Given the description of an element on the screen output the (x, y) to click on. 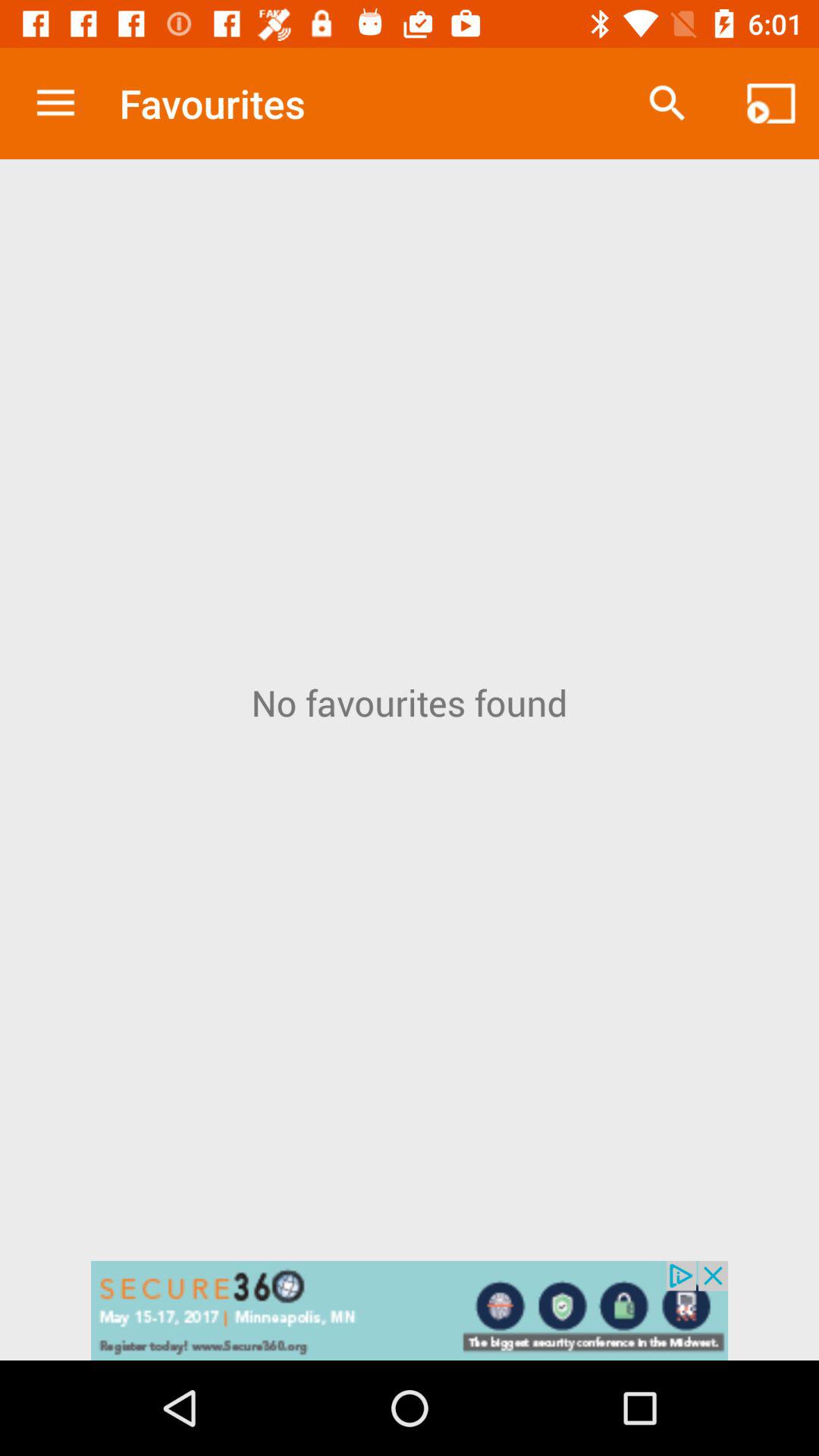
advertisement page (409, 1310)
